Given the description of an element on the screen output the (x, y) to click on. 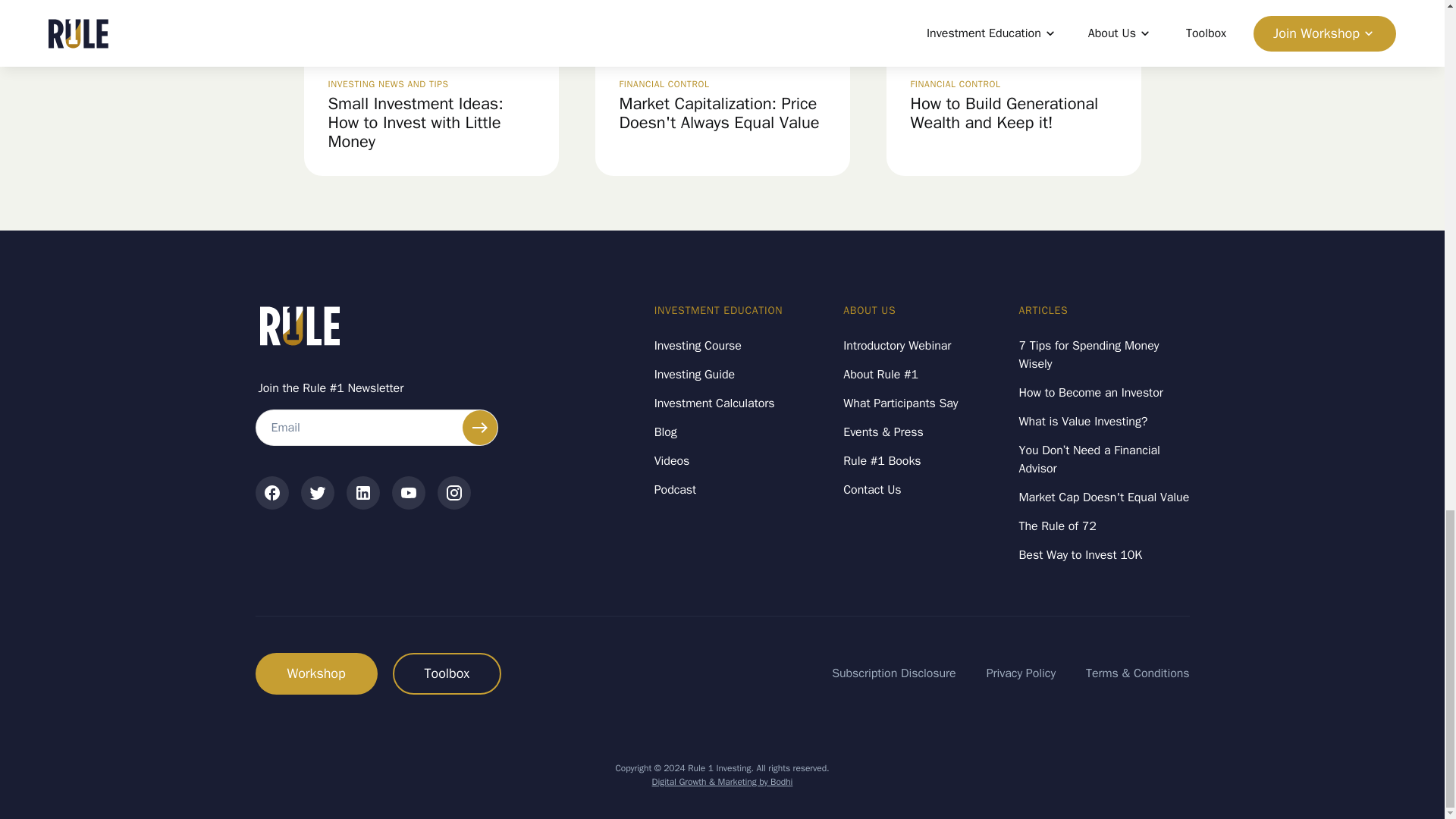
Investment Calculators (713, 403)
What is Value Investing? (1083, 421)
Blog (665, 432)
Contact Us (872, 489)
Best Way to Invest 10K (1080, 554)
Investing Guide (694, 374)
The Rule of 72 (1057, 526)
Investing Course (697, 345)
7 Tips for Spending Money Wisely (1104, 354)
Videos (671, 460)
What Participants Say (900, 403)
Podcast (674, 489)
